Given the description of an element on the screen output the (x, y) to click on. 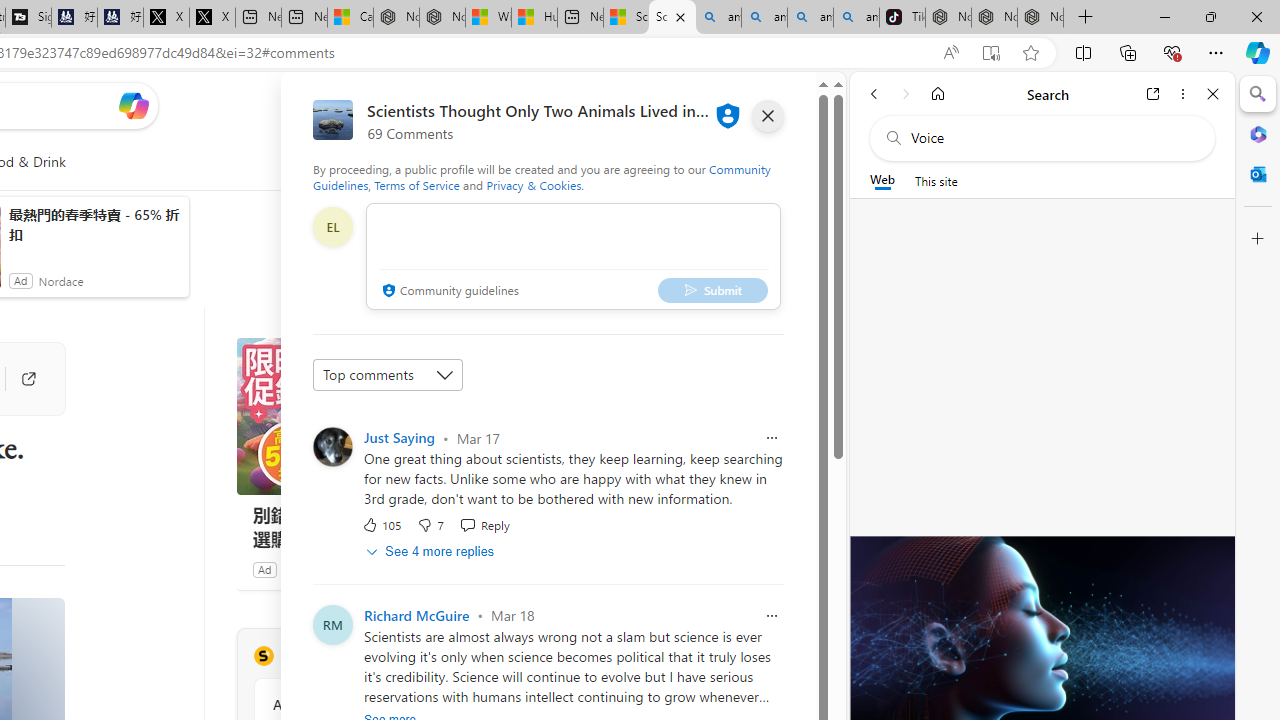
Nordace (304, 569)
Huge shark washes ashore at New York City beach | Watch (534, 17)
Enter Immersive Reader (F9) (991, 53)
Wildlife - MSN (487, 17)
TikTok (902, 17)
Restore (1210, 16)
Terms of Service (416, 184)
Add this page to favorites (Ctrl+D) (1030, 53)
Search the web (1051, 137)
Customize (1258, 239)
Search (1258, 94)
Settings and more (Alt+F) (1215, 52)
More options (1182, 93)
Community Guidelines (541, 176)
